Given the description of an element on the screen output the (x, y) to click on. 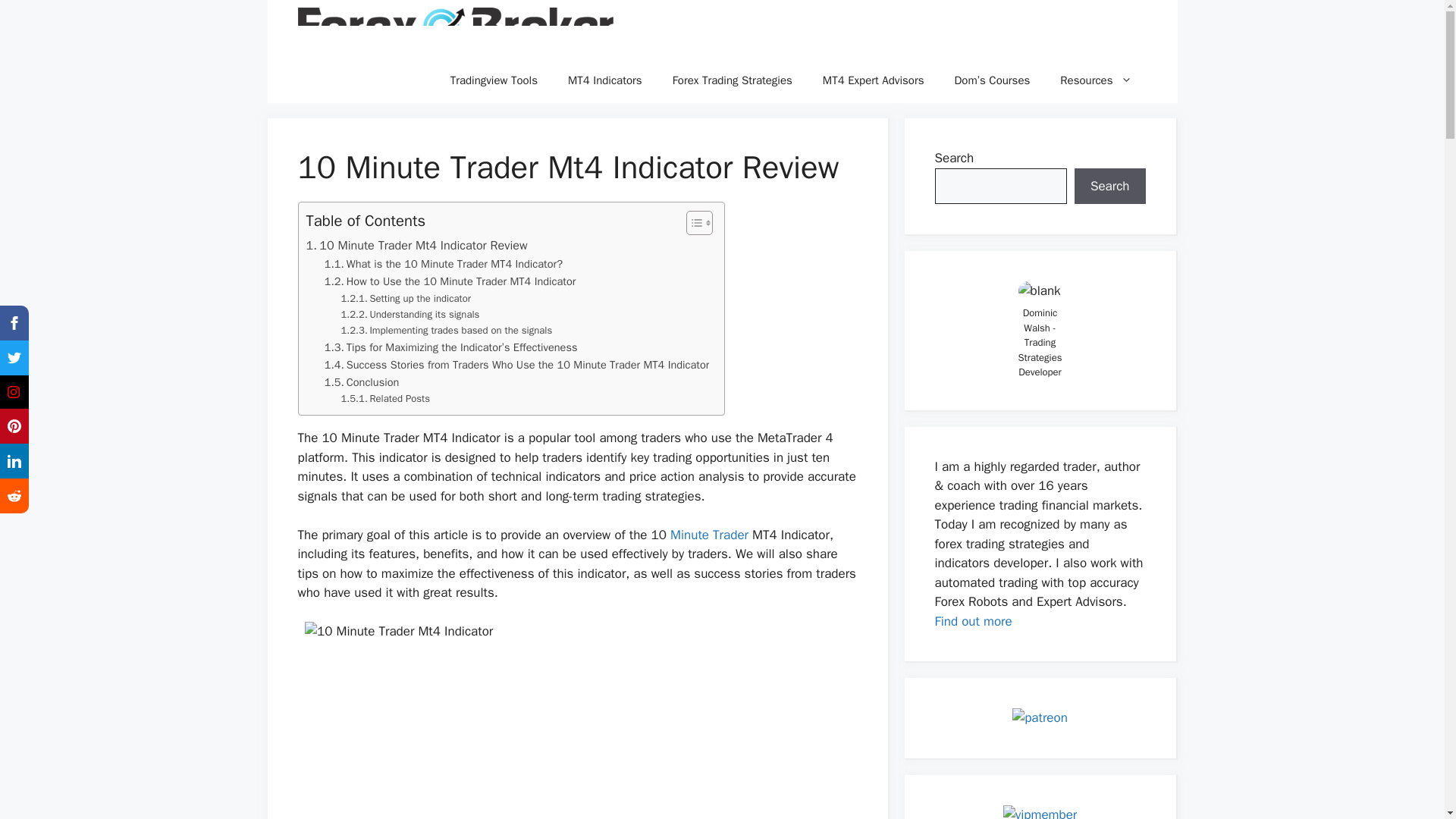
Understanding its signals (410, 314)
What is the 10 Minute Trader MT4 Indicator? (443, 263)
10 Minute Trader Mt4 Indicator Review (416, 245)
Implementing trades based on the signals (446, 330)
Related Posts (385, 399)
Related Posts (385, 399)
Resources (1096, 80)
How to Use the 10 Minute Trader MT4 Indicator (450, 281)
How to Use the 10 Minute Trader MT4 Indicator (450, 281)
Forexobroker (454, 28)
Implementing trades based on the signals (446, 330)
MT4 Indicators (605, 80)
Setting up the indicator (405, 299)
Understanding its signals (410, 314)
